Given the description of an element on the screen output the (x, y) to click on. 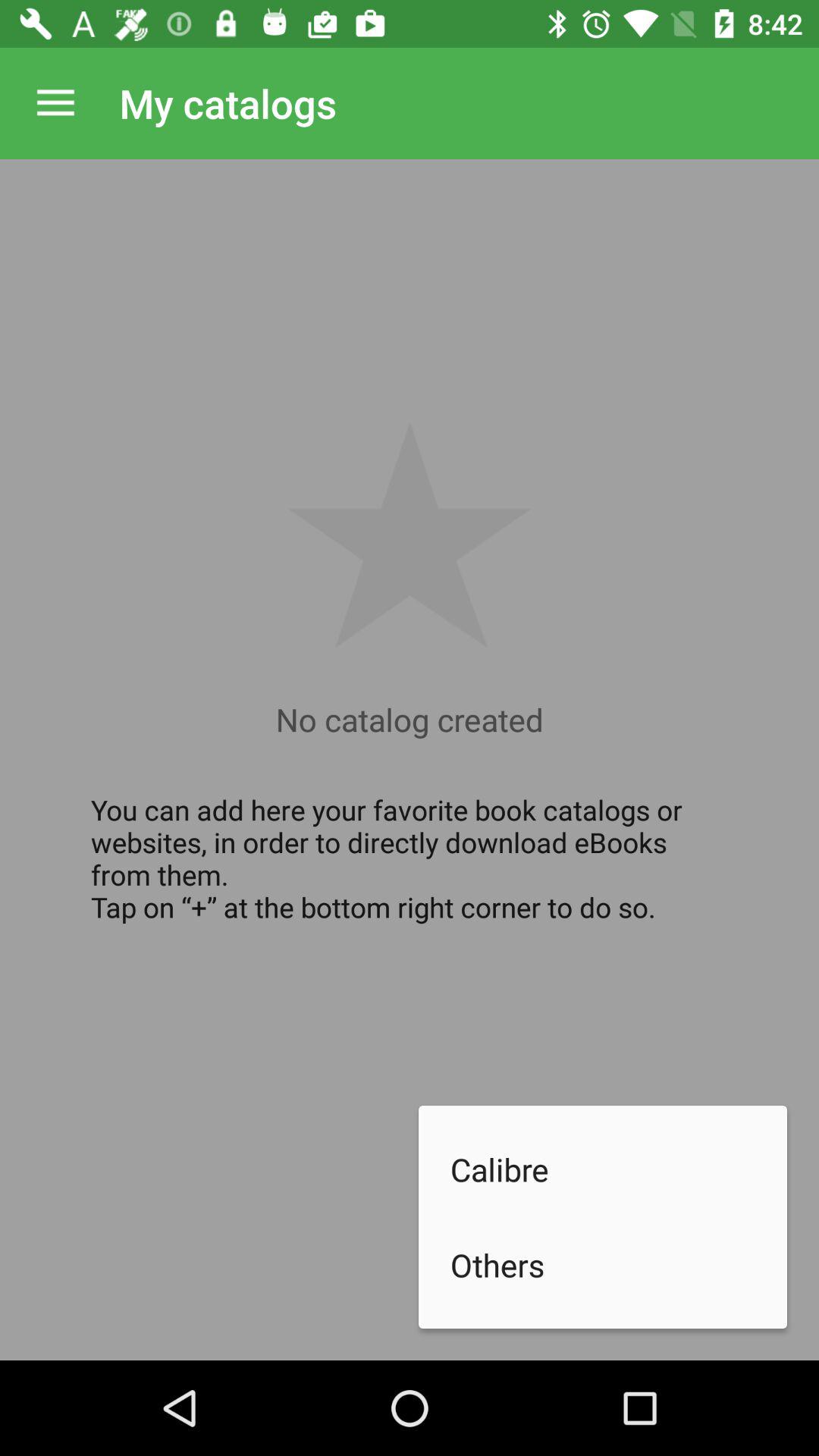
jump to the others item (618, 1264)
